Given the description of an element on the screen output the (x, y) to click on. 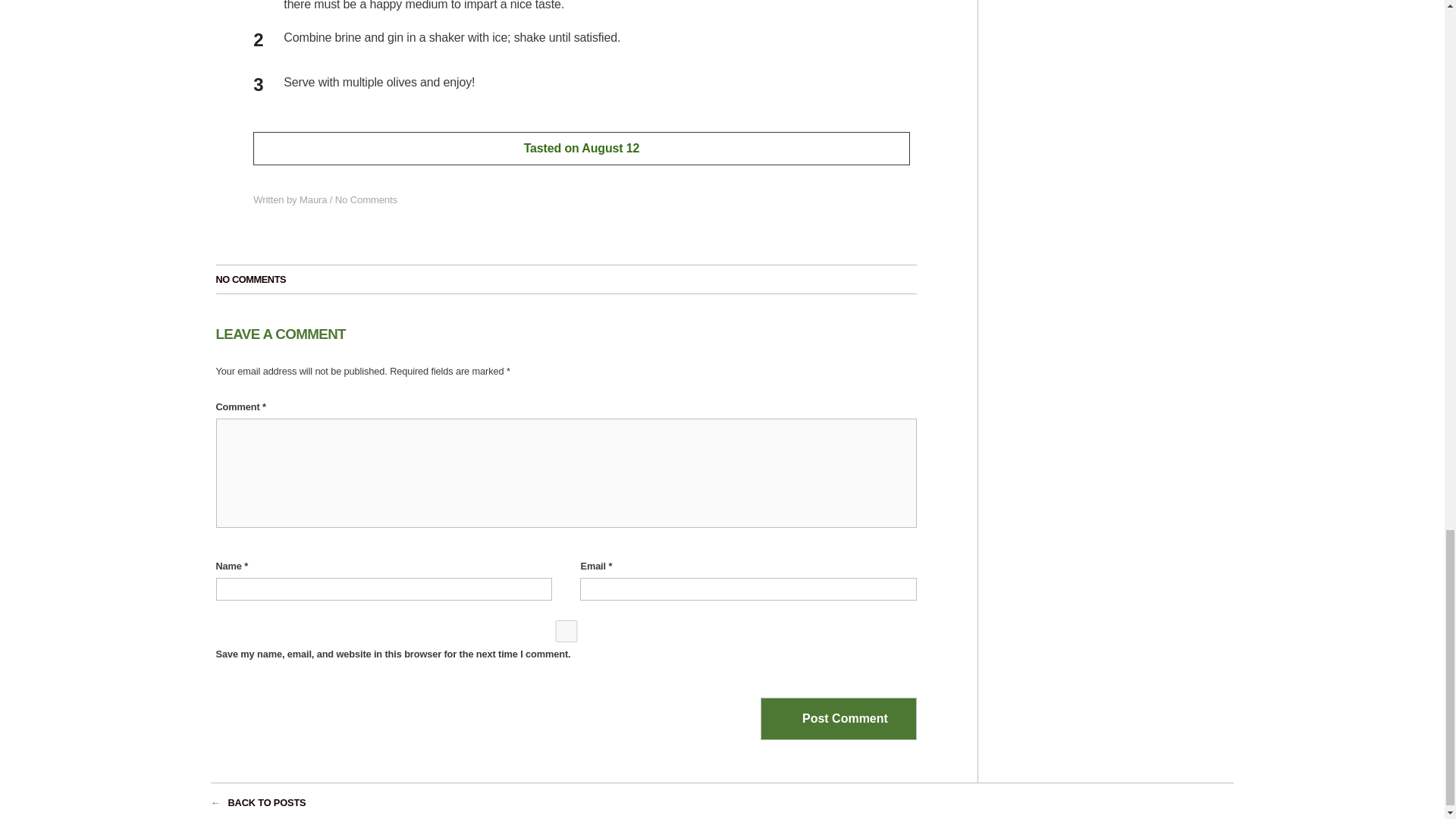
No Comments (365, 199)
yes (566, 630)
Post Comment (838, 718)
Post Comment (838, 718)
